Given the description of an element on the screen output the (x, y) to click on. 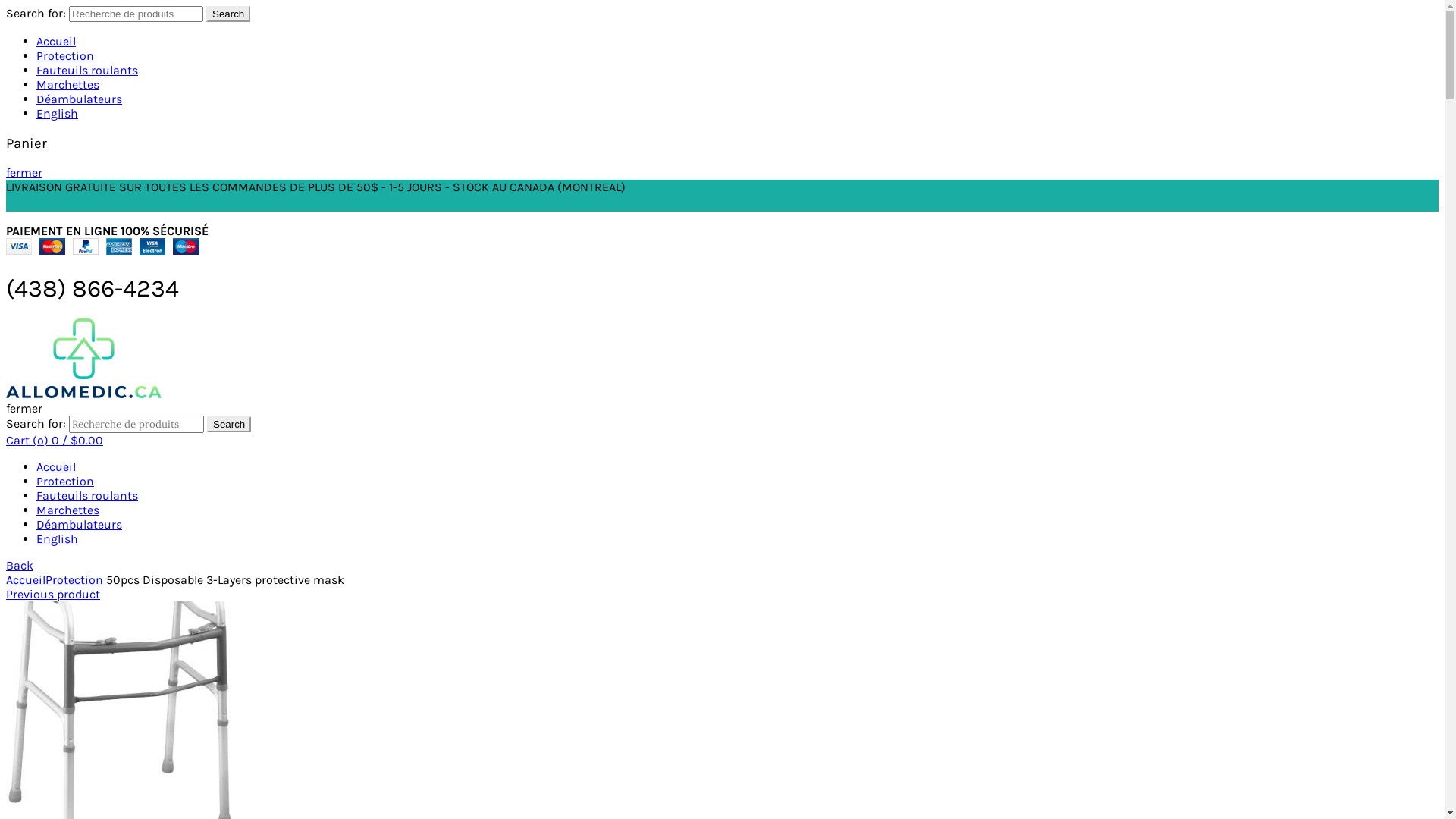
Back Element type: text (19, 565)
Protection Element type: text (74, 579)
Marchettes Element type: text (67, 509)
Accueil Element type: text (55, 466)
Accueil Element type: text (25, 579)
Fauteuils roulants Element type: text (87, 69)
fermer Element type: text (24, 172)
English Element type: text (57, 113)
Protection Element type: text (65, 480)
Cart (o) 0 / $0.00 Element type: text (54, 440)
Search Element type: text (229, 424)
Fauteuils roulants Element type: text (87, 495)
Marchettes Element type: text (67, 84)
English Element type: text (57, 538)
Accueil Element type: text (55, 41)
Previous product Element type: text (53, 593)
Search Element type: text (228, 13)
Protection Element type: text (65, 55)
